Given the description of an element on the screen output the (x, y) to click on. 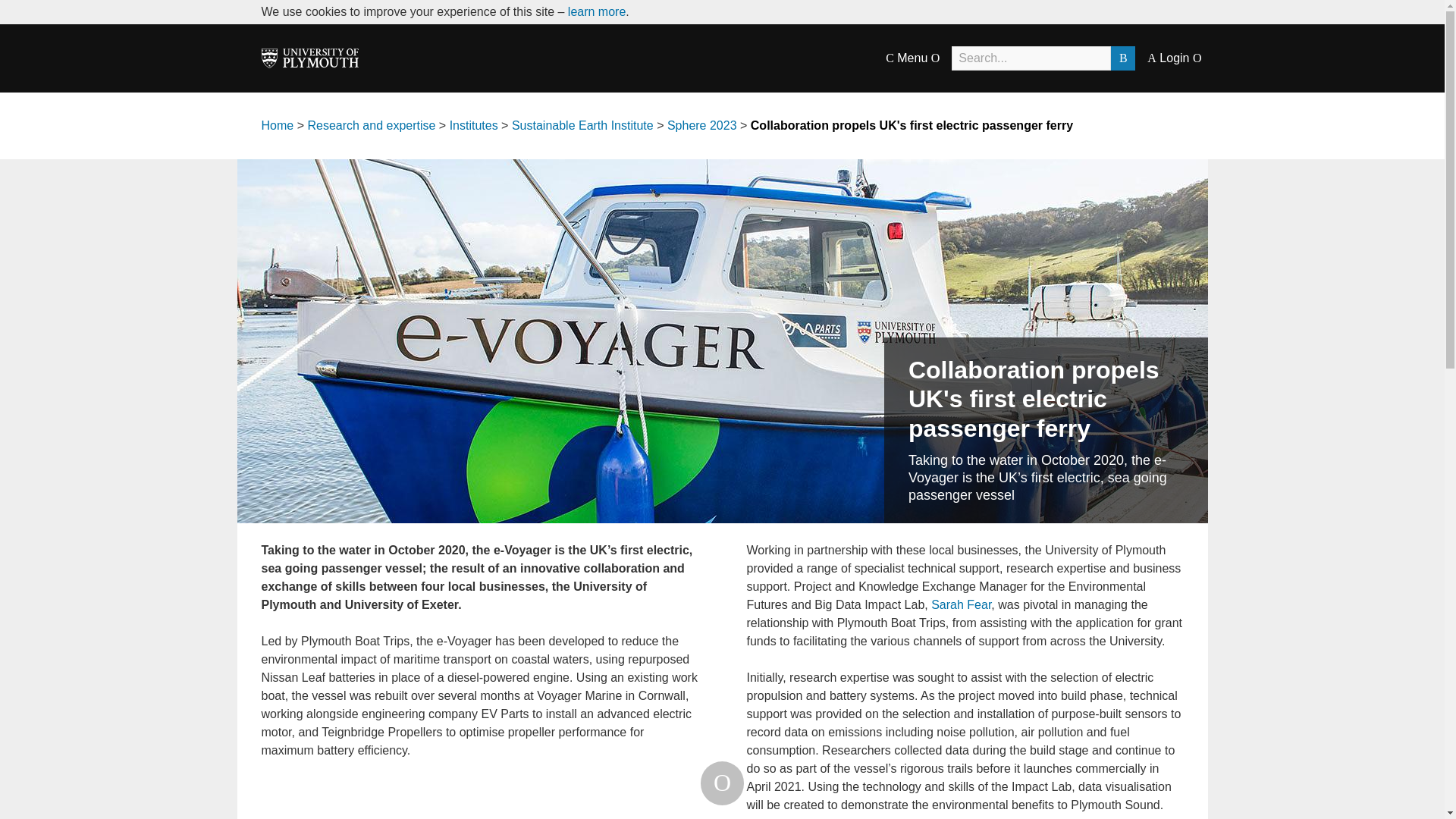
A Login O (1174, 58)
B (1122, 57)
learn more (596, 11)
C Menu O (911, 58)
